Given the description of an element on the screen output the (x, y) to click on. 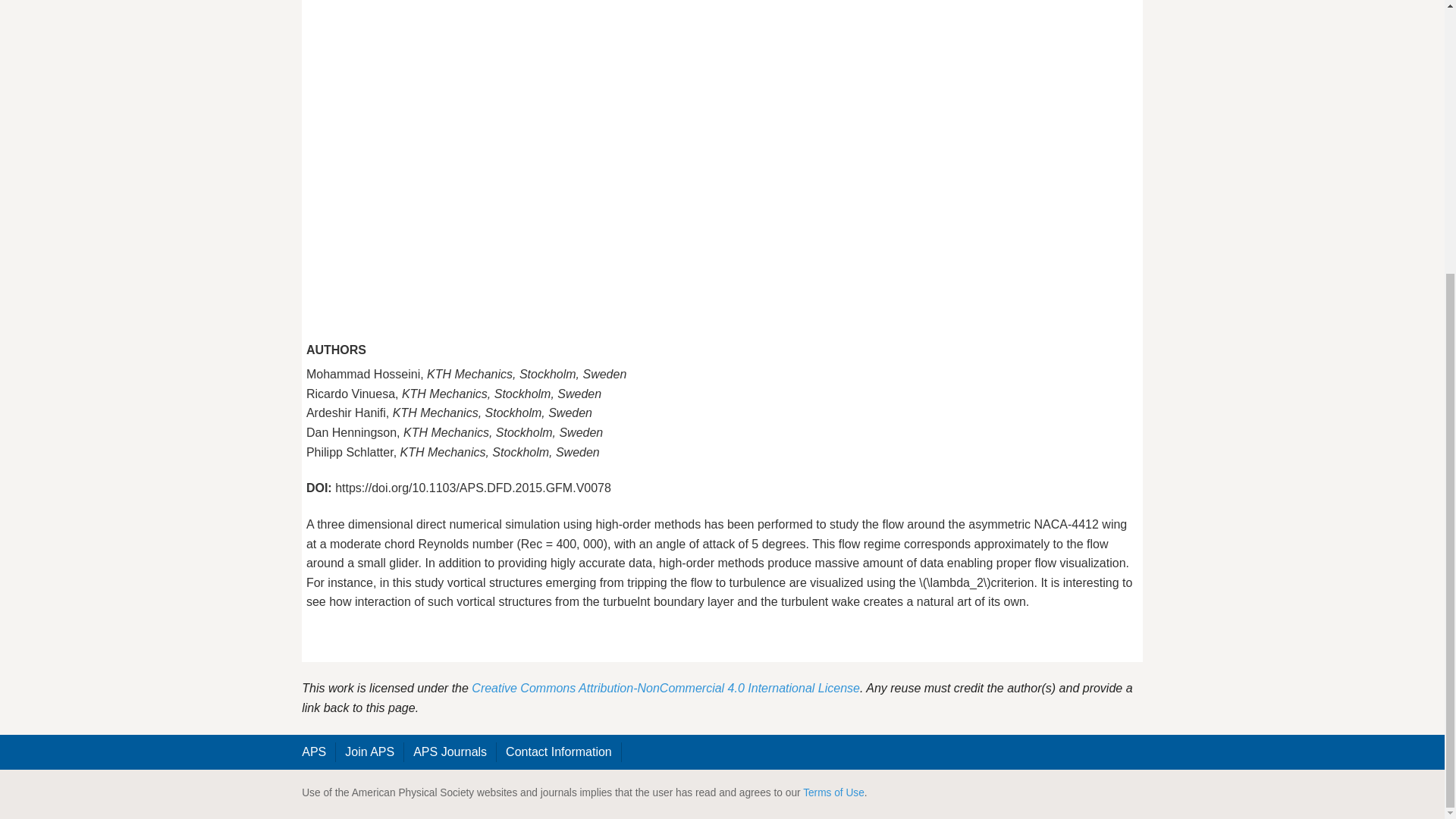
Terms of Use (833, 792)
Contact Information (558, 752)
Join APS (369, 752)
APS (313, 752)
APS Journals (449, 752)
